Given the description of an element on the screen output the (x, y) to click on. 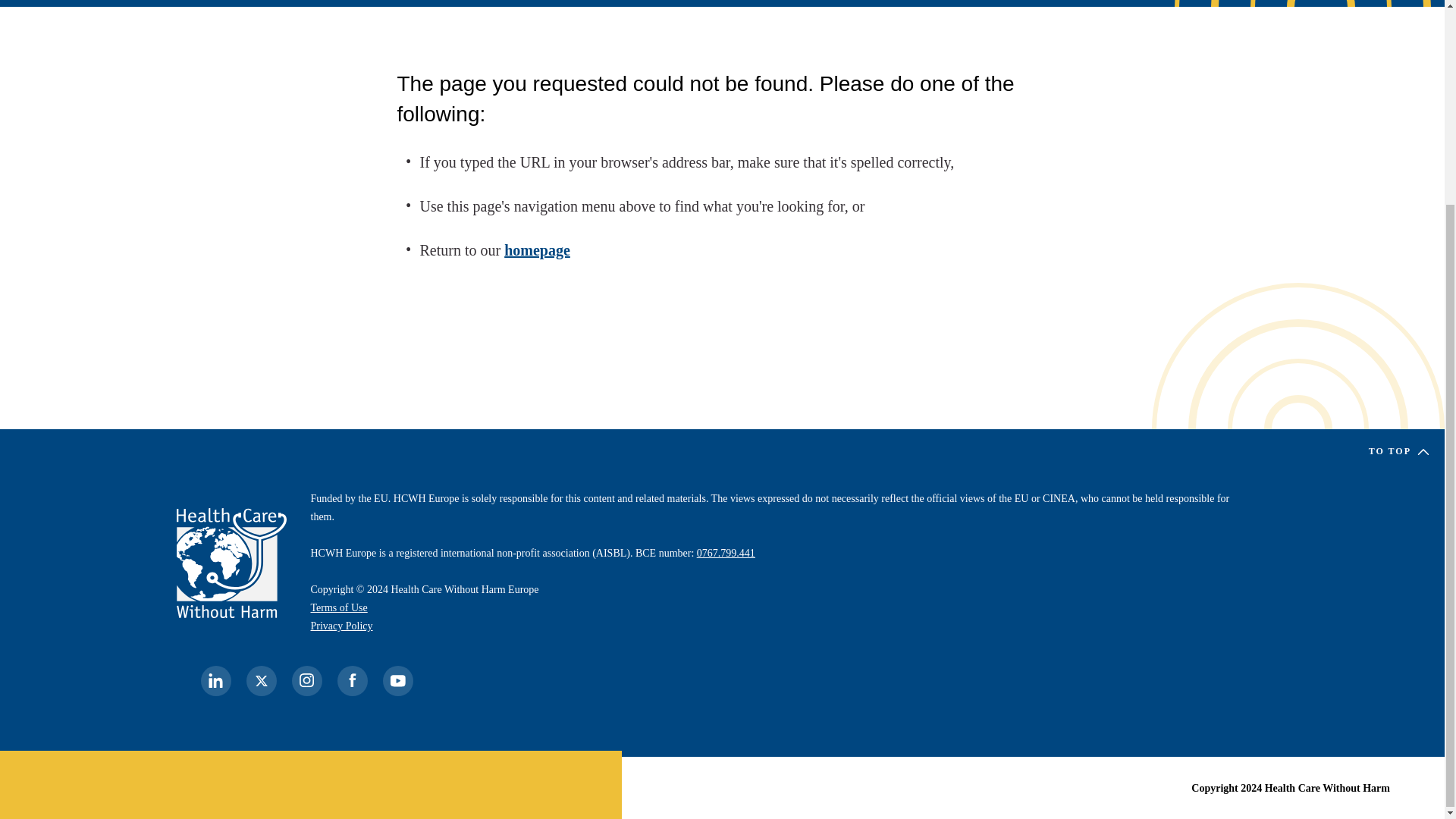
Terms of use (339, 607)
Home (230, 562)
Privacy policy (341, 625)
